Given the description of an element on the screen output the (x, y) to click on. 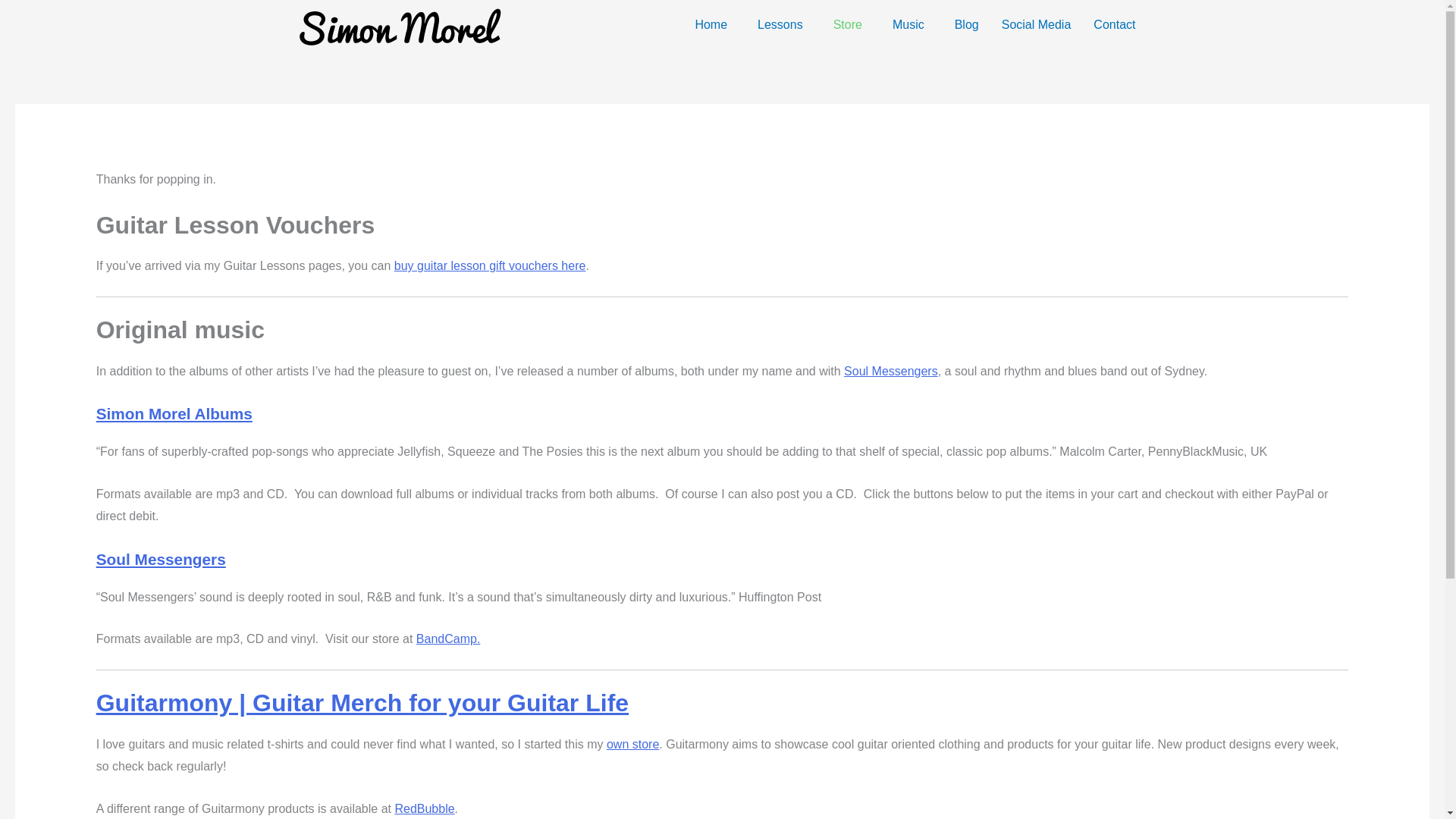
RedBubble (424, 808)
Social Media (1036, 24)
Contact (1114, 24)
BandCamp. (448, 638)
Lessons (783, 24)
Soul Messengers (160, 559)
Simon Morel Albums (173, 413)
Blog (966, 24)
Soul Messengers (890, 370)
buy guitar lesson gift vouchers here (490, 265)
Music (911, 24)
Home (713, 24)
own store (633, 744)
Buy guitar lesson vouchers (490, 265)
Store (851, 24)
